Given the description of an element on the screen output the (x, y) to click on. 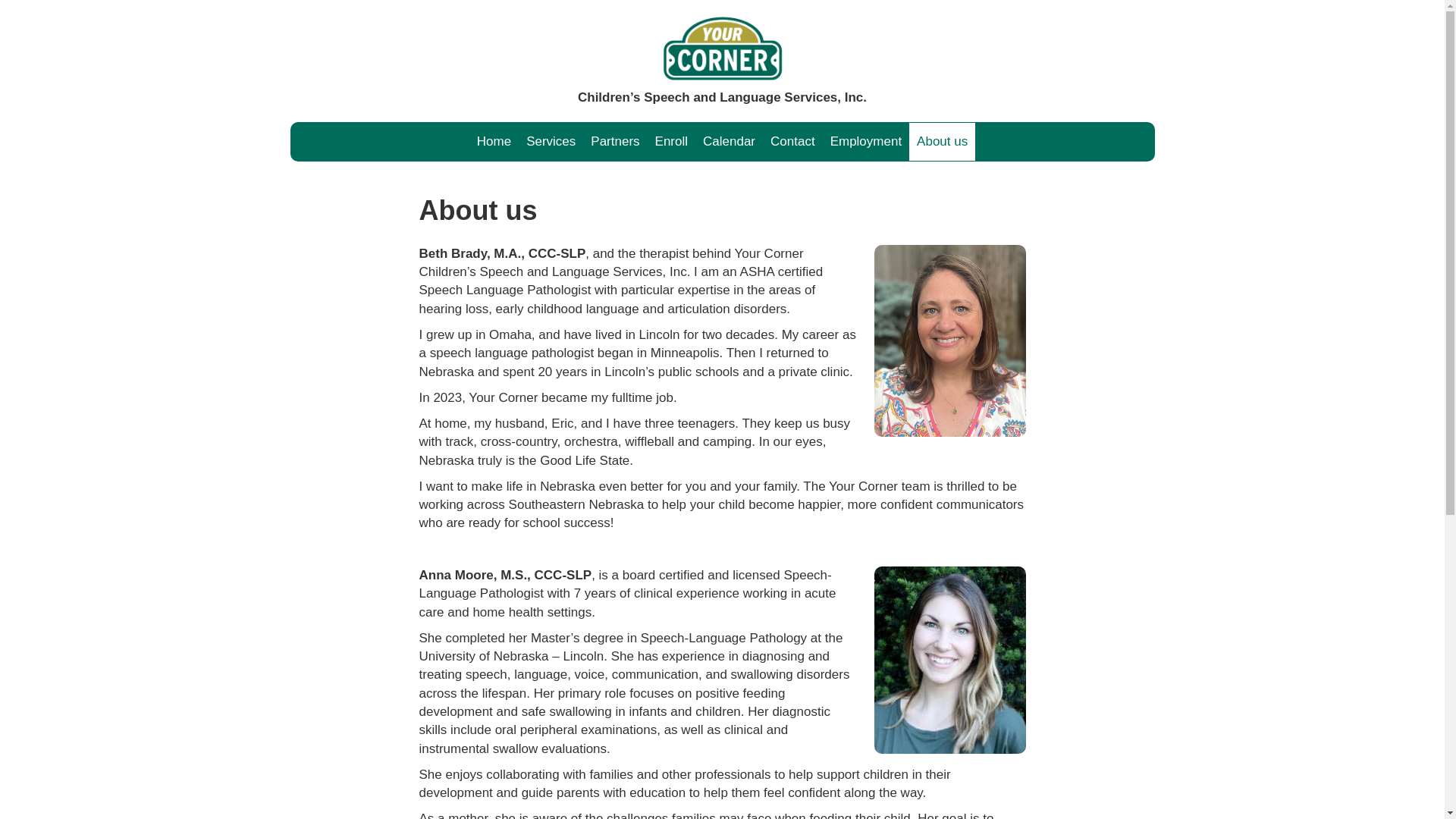
Enroll (671, 141)
Home (493, 141)
Calendar (728, 141)
Contact (792, 141)
Employment (865, 141)
About us (941, 141)
Home (722, 49)
Partners (614, 141)
Services (550, 141)
